Given the description of an element on the screen output the (x, y) to click on. 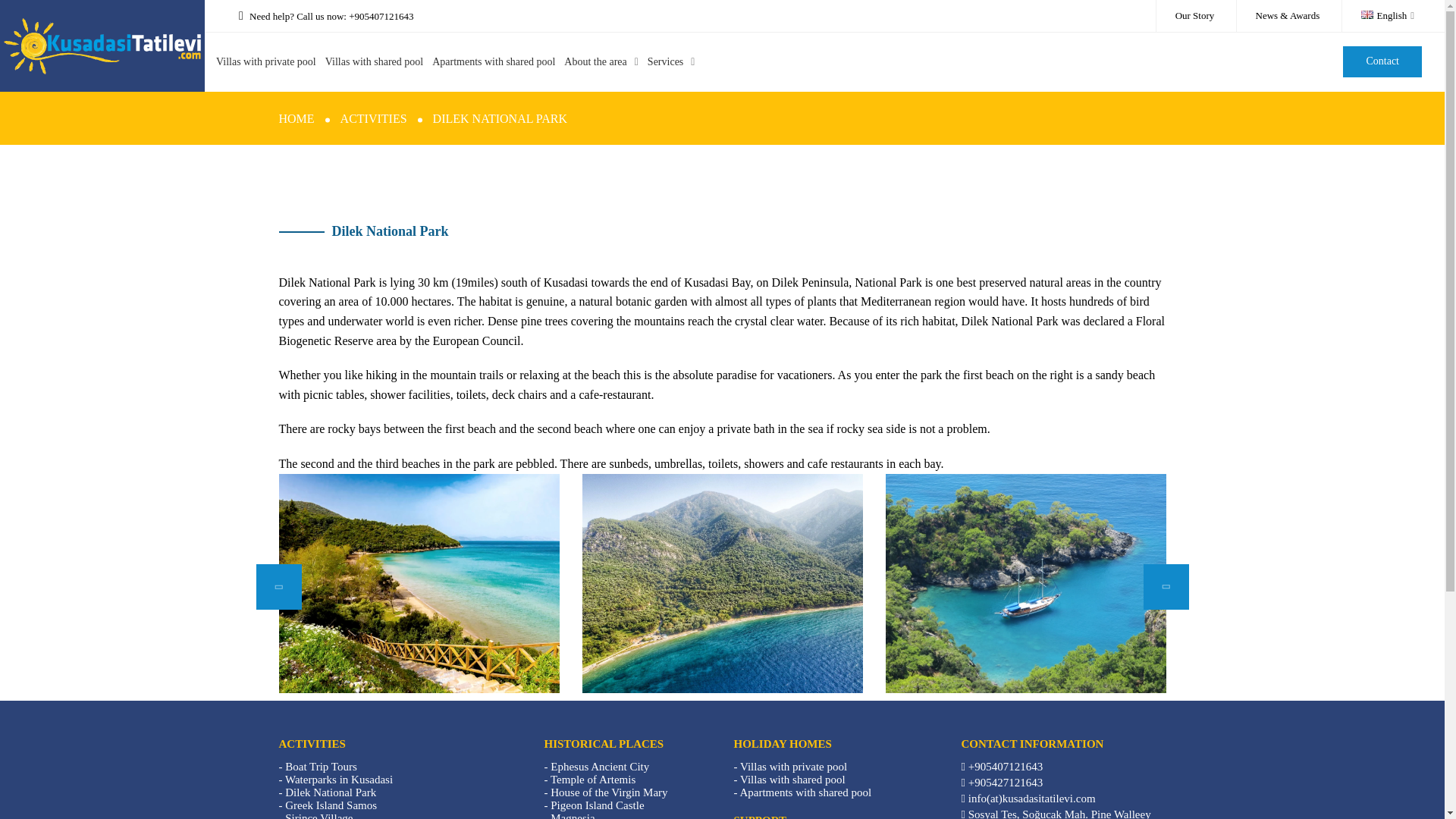
English (1387, 15)
Boat Trip Tours (320, 766)
HOME (296, 118)
Greek Island Samos (331, 805)
About the area (595, 61)
ACTIVITIES (373, 118)
Waterparks in Kusadasi (339, 779)
Villas with private pool (265, 61)
Contact (1382, 60)
Villas with shared pool (373, 61)
Apartments with shared pool (493, 61)
Services (664, 61)
Our Story (1194, 15)
Dilek National Park (330, 792)
Sirince Village (318, 815)
